Given the description of an element on the screen output the (x, y) to click on. 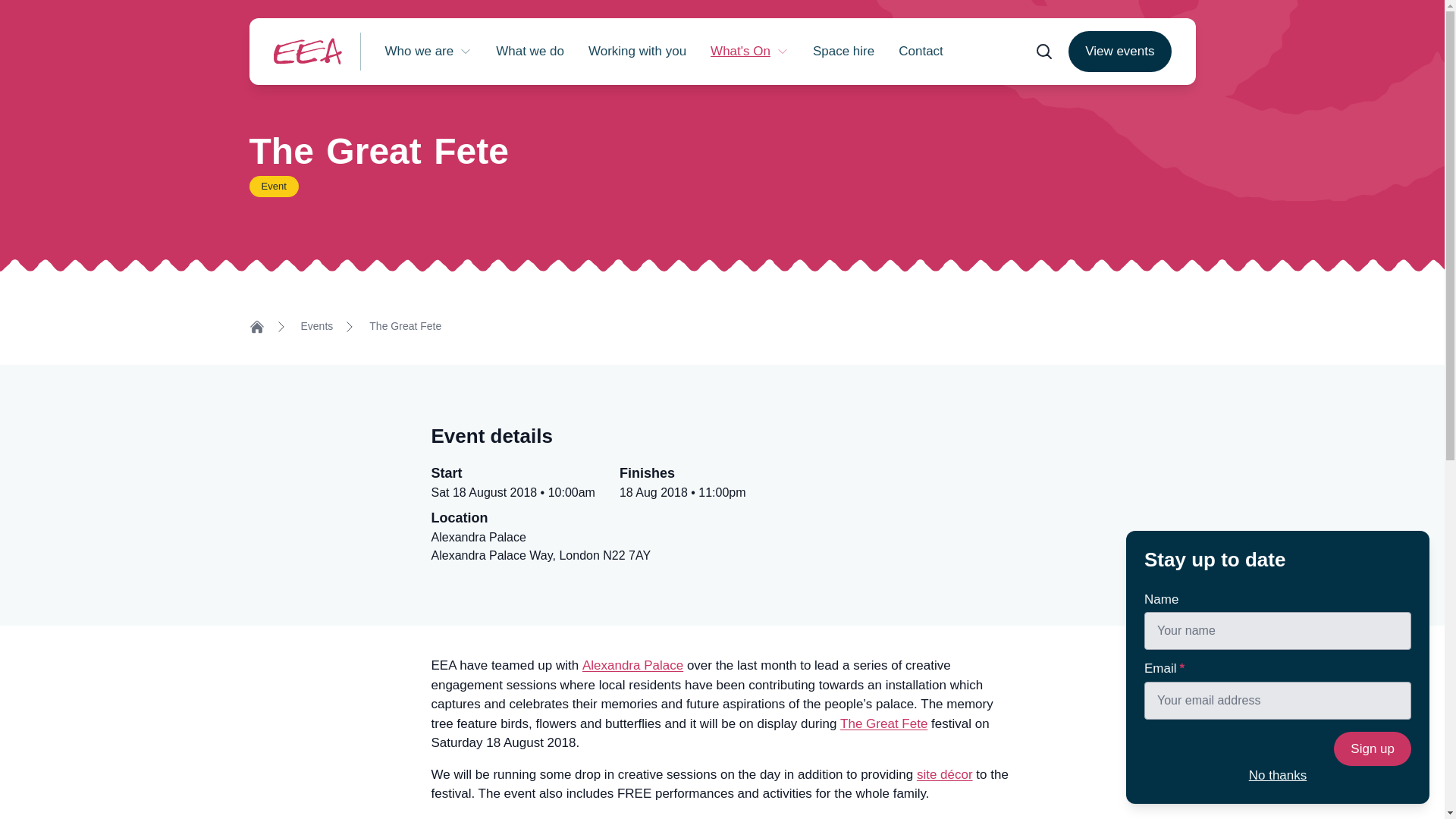
Events (316, 326)
Working with you (637, 51)
The Great Fete (883, 723)
What's On (749, 51)
Home (255, 326)
Contact (920, 51)
Get directions to Alexandra Palace (540, 545)
View events (540, 545)
What we do (1119, 51)
Who we are (529, 51)
Alexandra Palace (428, 51)
The Great Fete (632, 665)
Space hire (405, 326)
